Given the description of an element on the screen output the (x, y) to click on. 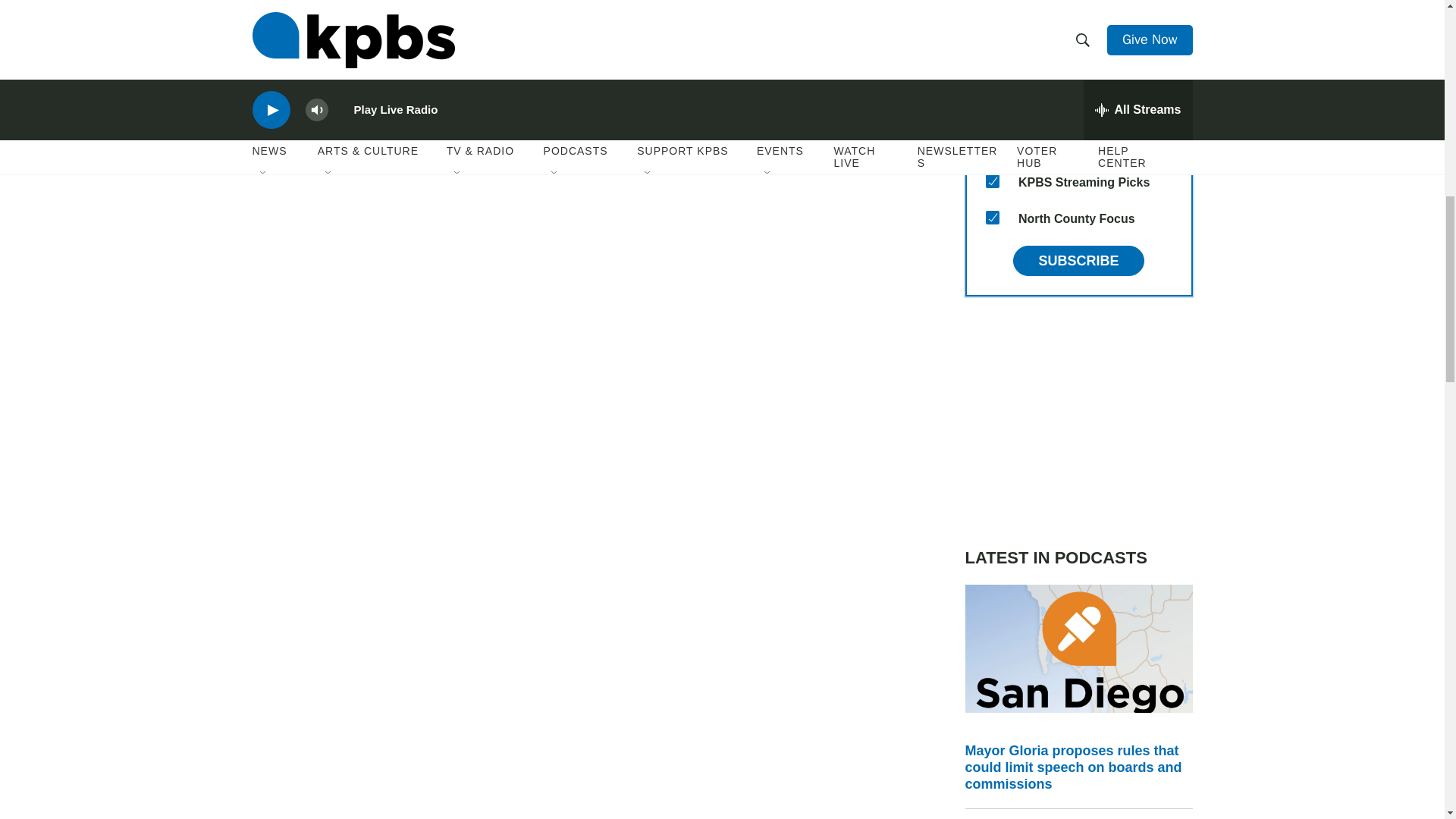
4 (991, 2)
6 (991, 71)
15 (991, 217)
5 (991, 35)
8 (991, 181)
2 (991, 108)
1 (991, 144)
